Given the description of an element on the screen output the (x, y) to click on. 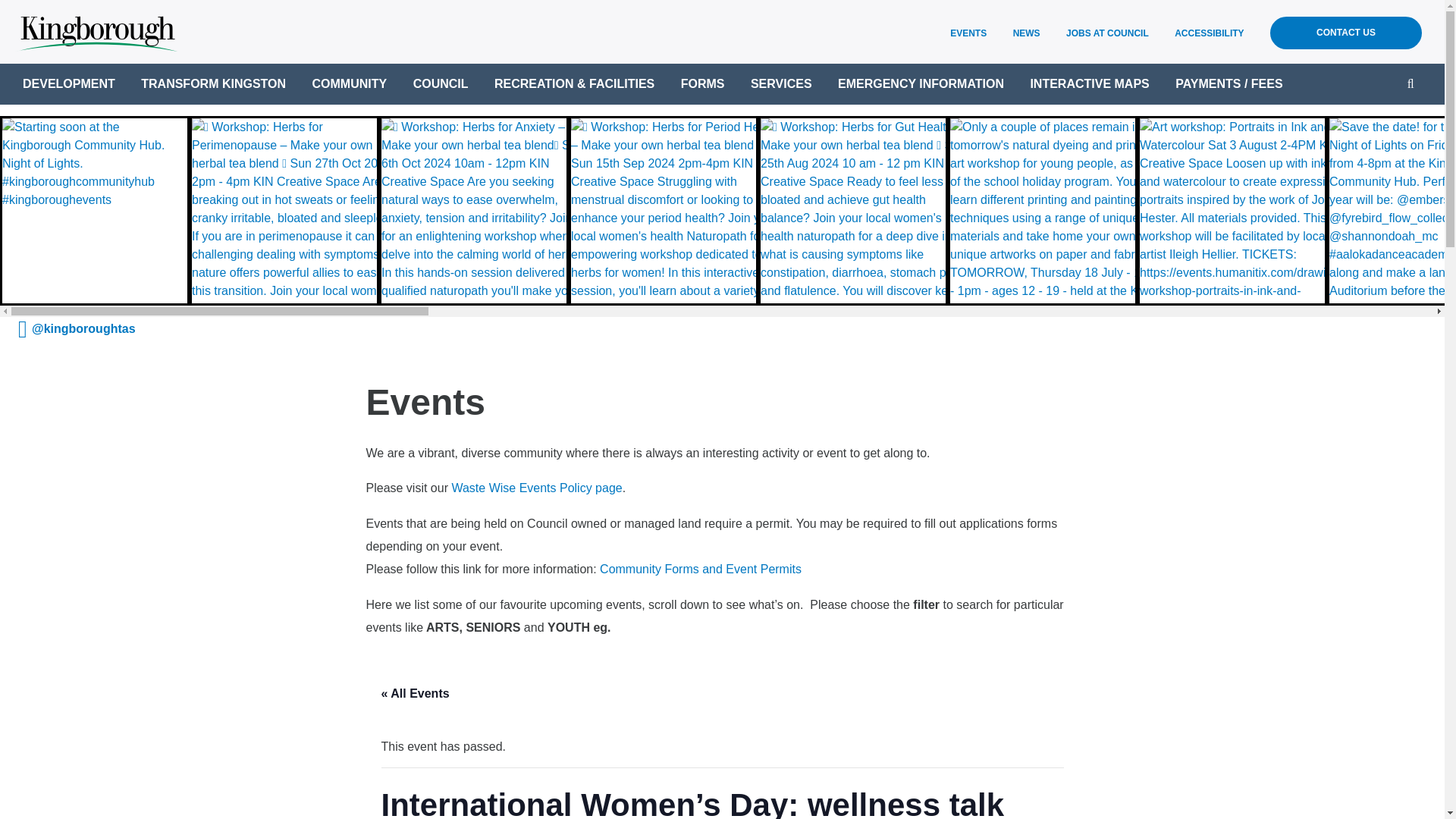
JOBS AT COUNCIL (1106, 33)
DEVELOPMENT (69, 83)
ACCESSIBILITY (1208, 33)
Kingborough Council (95, 30)
EMERGENCY INFORMATION (921, 83)
TRANSFORM KINGSTON (213, 83)
COUNCIL (440, 83)
COMMUNITY (350, 83)
SERVICES (781, 83)
INTERACTIVE MAPS (1088, 83)
CONTACT US (1345, 32)
Search (1410, 83)
FORMS (703, 83)
